Given the description of an element on the screen output the (x, y) to click on. 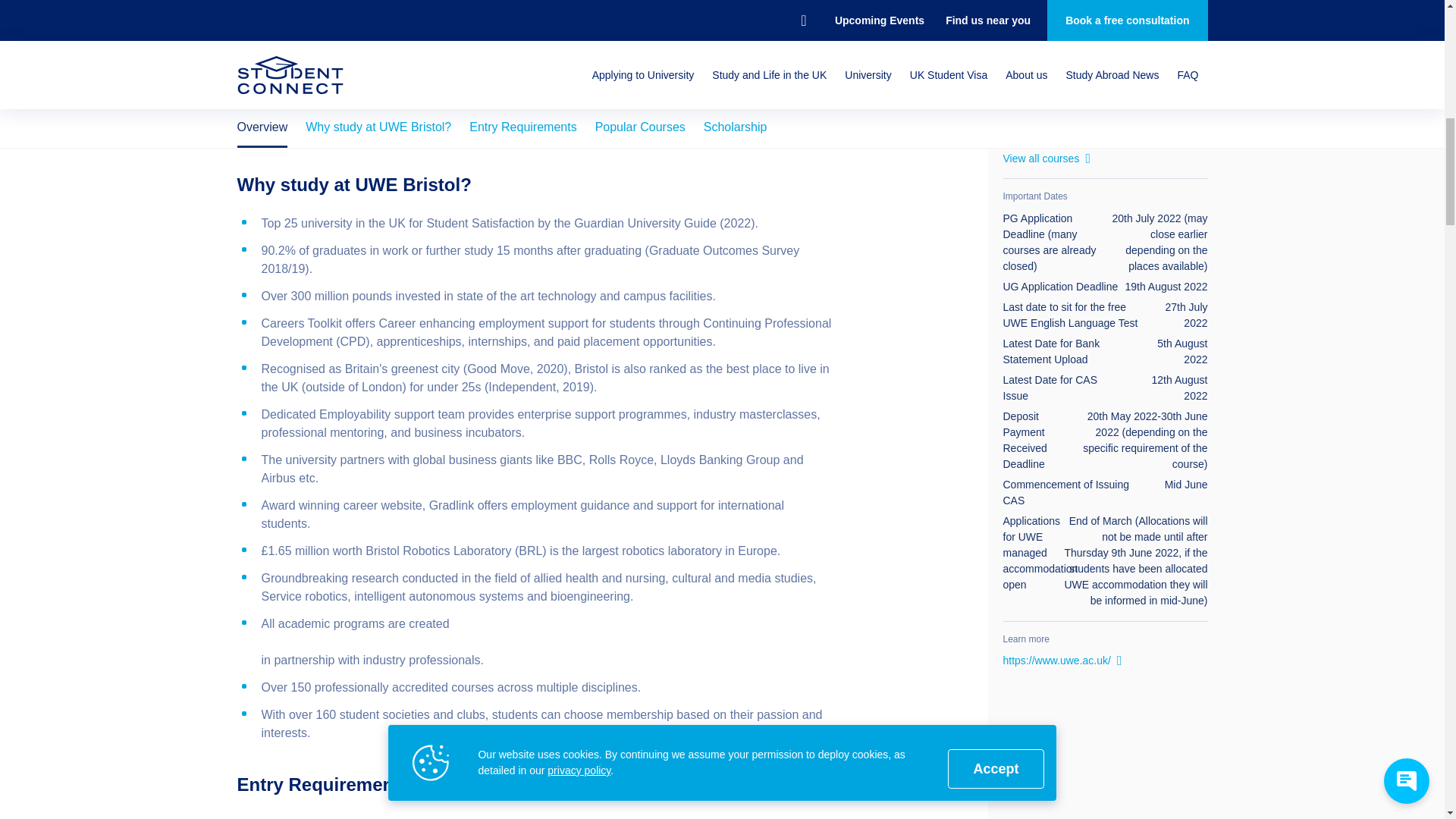
YouTube video player (1105, 758)
